Given the description of an element on the screen output the (x, y) to click on. 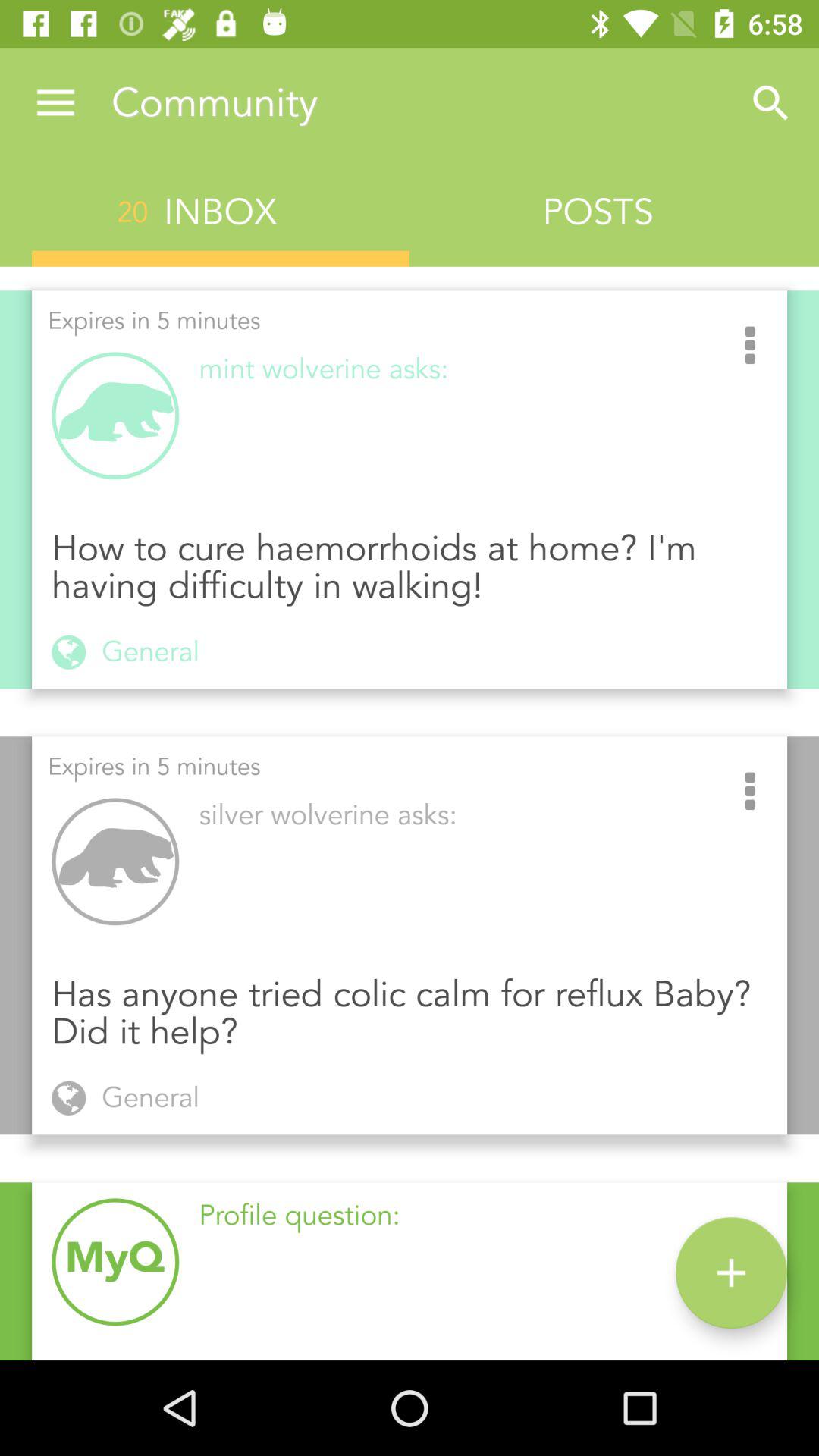
select the icon to the right of mint wolverine asks: icon (750, 346)
